Given the description of an element on the screen output the (x, y) to click on. 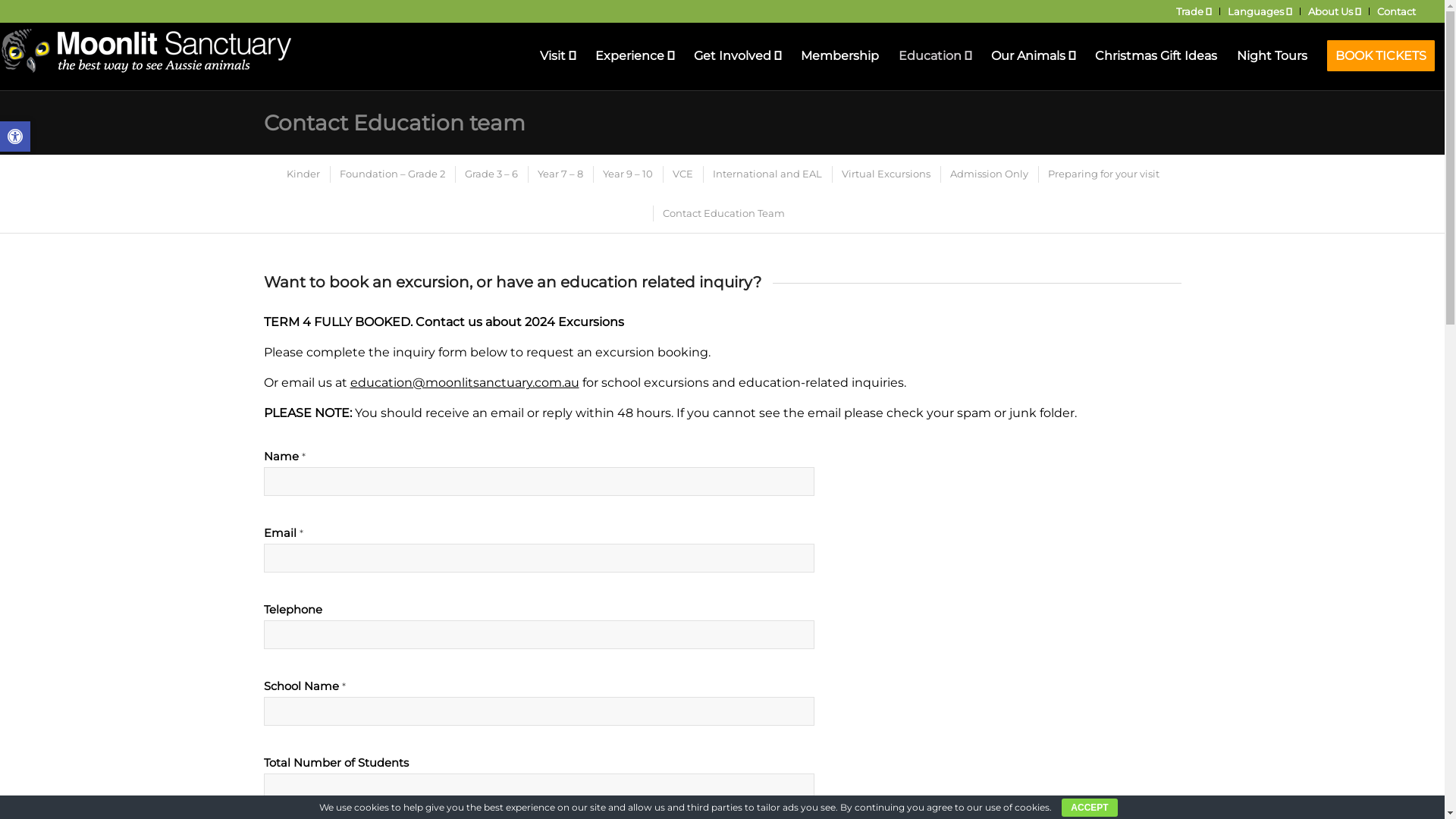
Christmas Gift Ideas Element type: text (1155, 55)
Virtual Excursions Element type: text (884, 174)
Membership Element type: text (839, 55)
Trade Element type: text (1193, 11)
Preparing for your visit Element type: text (1102, 174)
About Us Element type: text (1334, 11)
Our Animals Element type: text (1033, 55)
Visit Element type: text (557, 55)
Admission Only Element type: text (987, 174)
Education Element type: text (934, 55)
VCE Element type: text (681, 174)
Contact Education Team Element type: text (721, 213)
Open toolbar
Accessibility Tools Element type: text (15, 136)
Experience Element type: text (634, 55)
Contact Education team Element type: text (394, 122)
Languages Element type: text (1259, 11)
Contact Element type: text (1396, 11)
Get Involved Element type: text (737, 55)
Night Tours Element type: text (1271, 55)
BOOK TICKETS Element type: text (1380, 55)
ACCEPT Element type: text (1089, 807)
International and EAL Element type: text (765, 174)
Kinder Element type: text (302, 174)
